Given the description of an element on the screen output the (x, y) to click on. 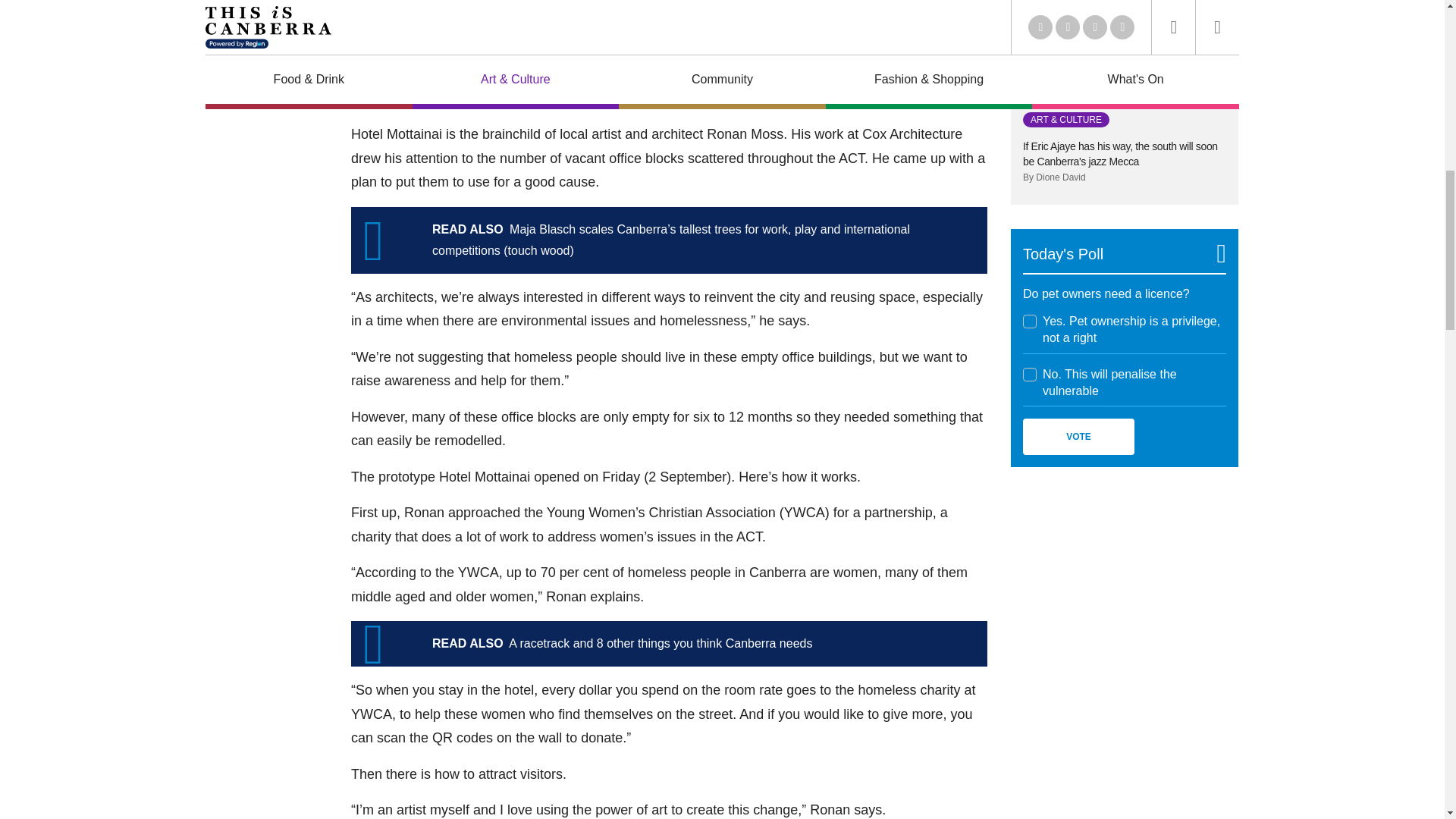
2 (1029, 374)
   Vote    (1078, 436)
1 (1029, 321)
